Given the description of an element on the screen output the (x, y) to click on. 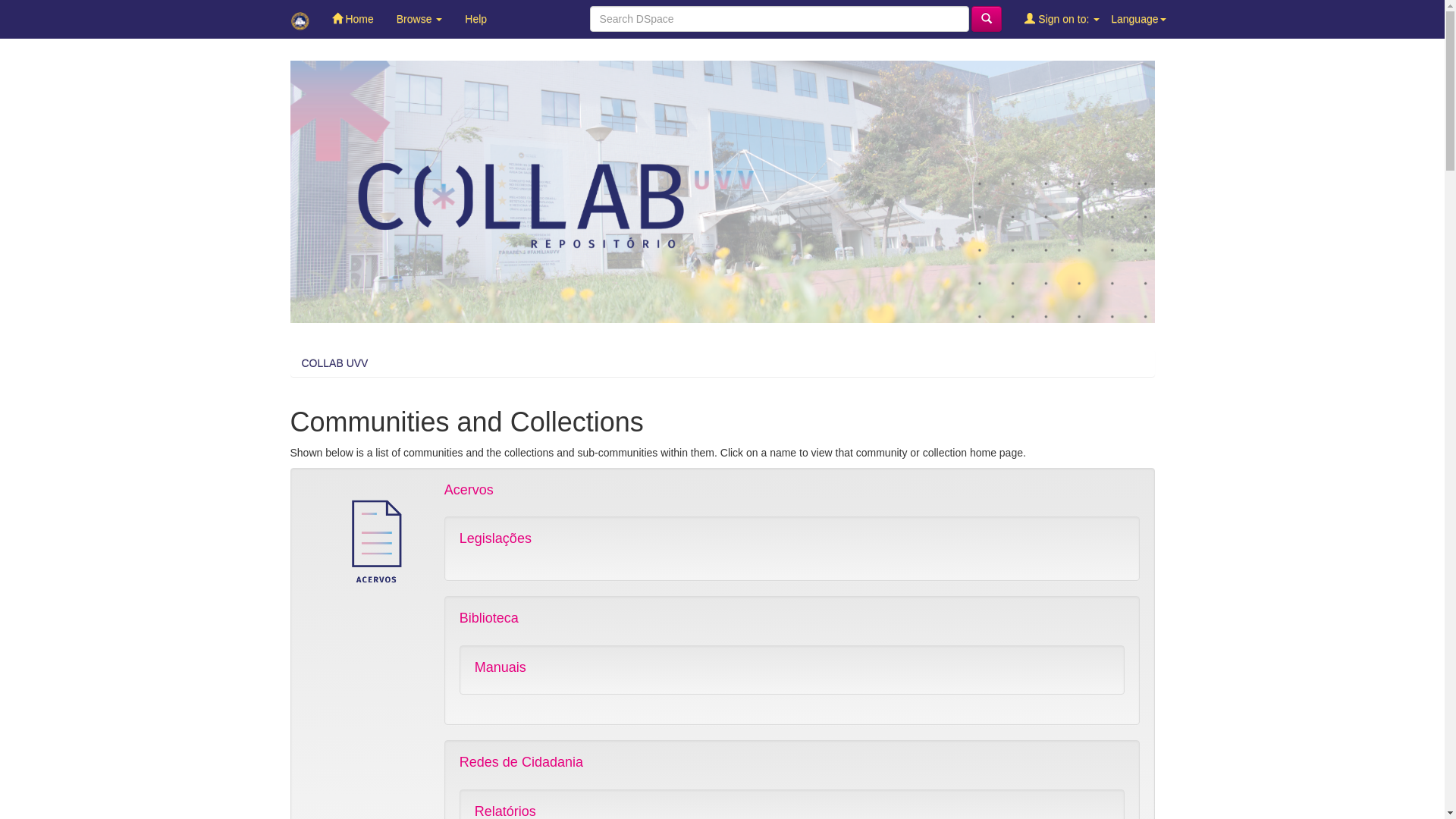
COLLAB UVV Element type: text (334, 363)
Manuais Element type: text (500, 666)
Browse Element type: text (419, 18)
Help Element type: text (475, 18)
Redes de Cidadania Element type: text (521, 761)
Biblioteca Element type: text (488, 617)
Acervos Element type: text (468, 489)
Language Element type: text (1137, 18)
Sign on to: Element type: text (1061, 18)
Home Element type: text (352, 18)
